Given the description of an element on the screen output the (x, y) to click on. 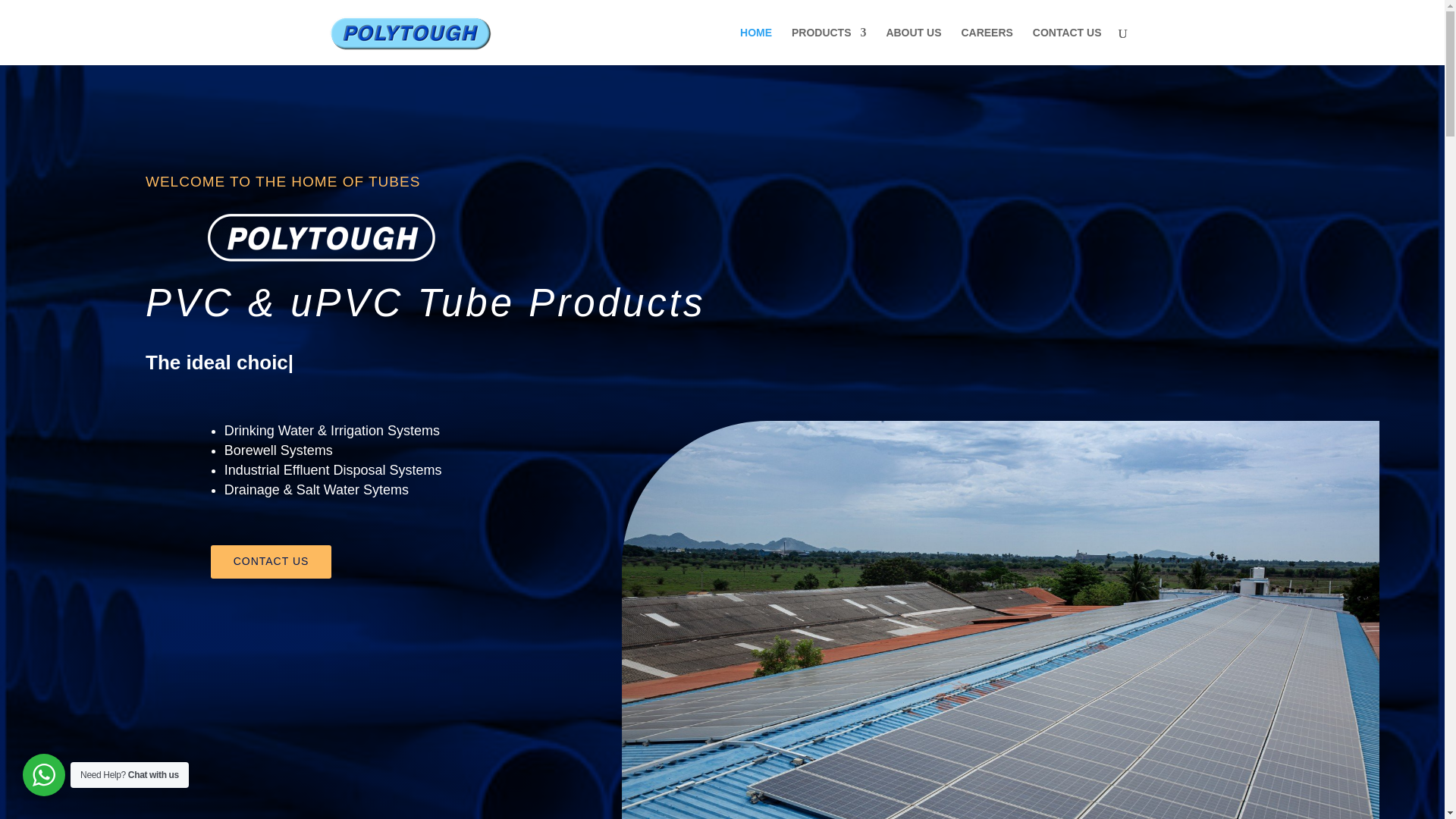
CAREERS (985, 46)
CONTACT US (271, 561)
CONTACT US (1067, 46)
Polytough Logo Reverse (321, 237)
PRODUCTS (829, 46)
ABOUT US (912, 46)
